Given the description of an element on the screen output the (x, y) to click on. 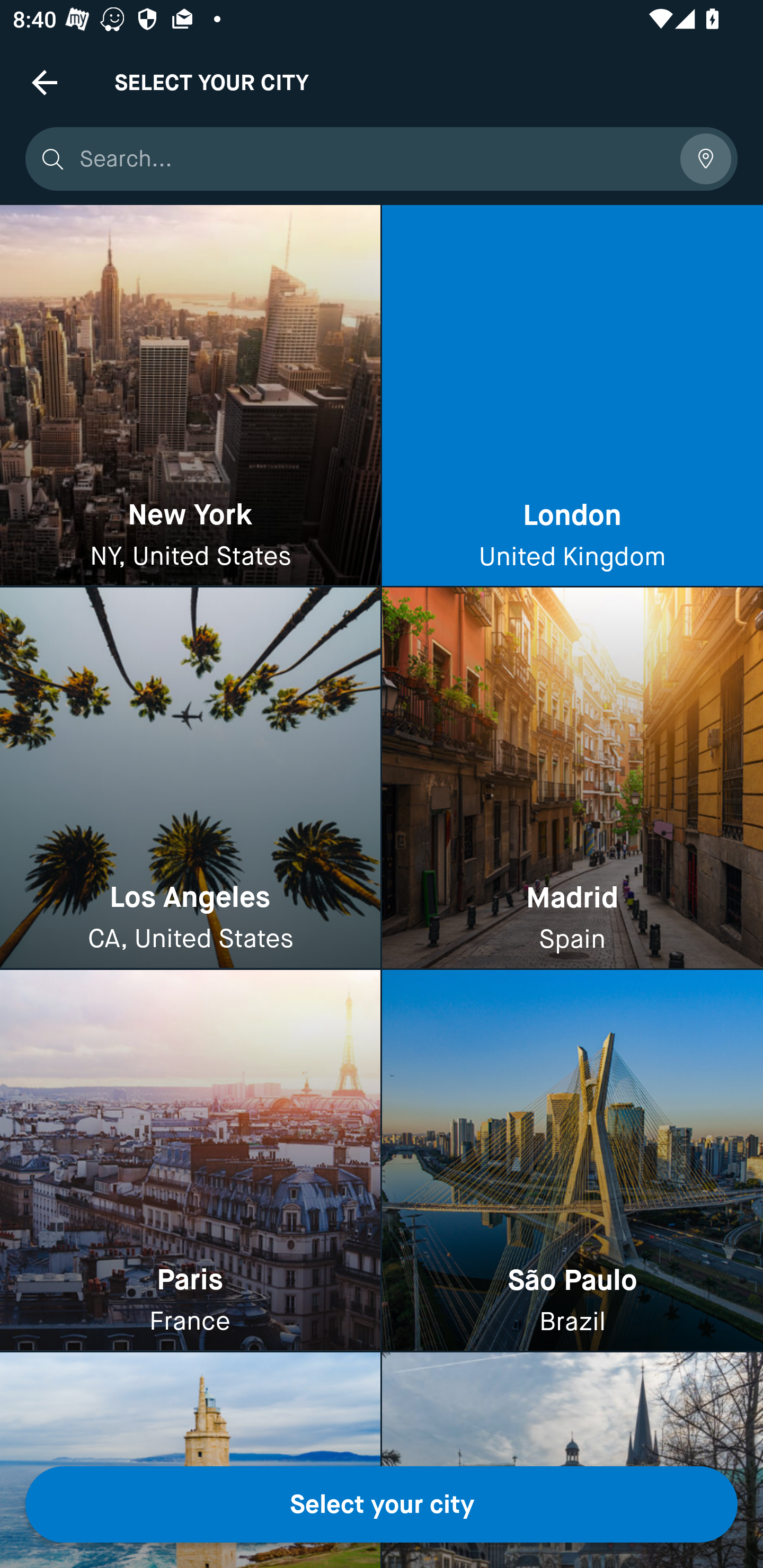
Navigate up (44, 82)
Search... (373, 159)
New York NY, United States (190, 395)
London United Kingdom (572, 395)
Los Angeles CA, United States (190, 778)
Madrid Spain (572, 778)
Paris France (190, 1160)
São Paulo Brazil (572, 1160)
Select your city (381, 1504)
